Given the description of an element on the screen output the (x, y) to click on. 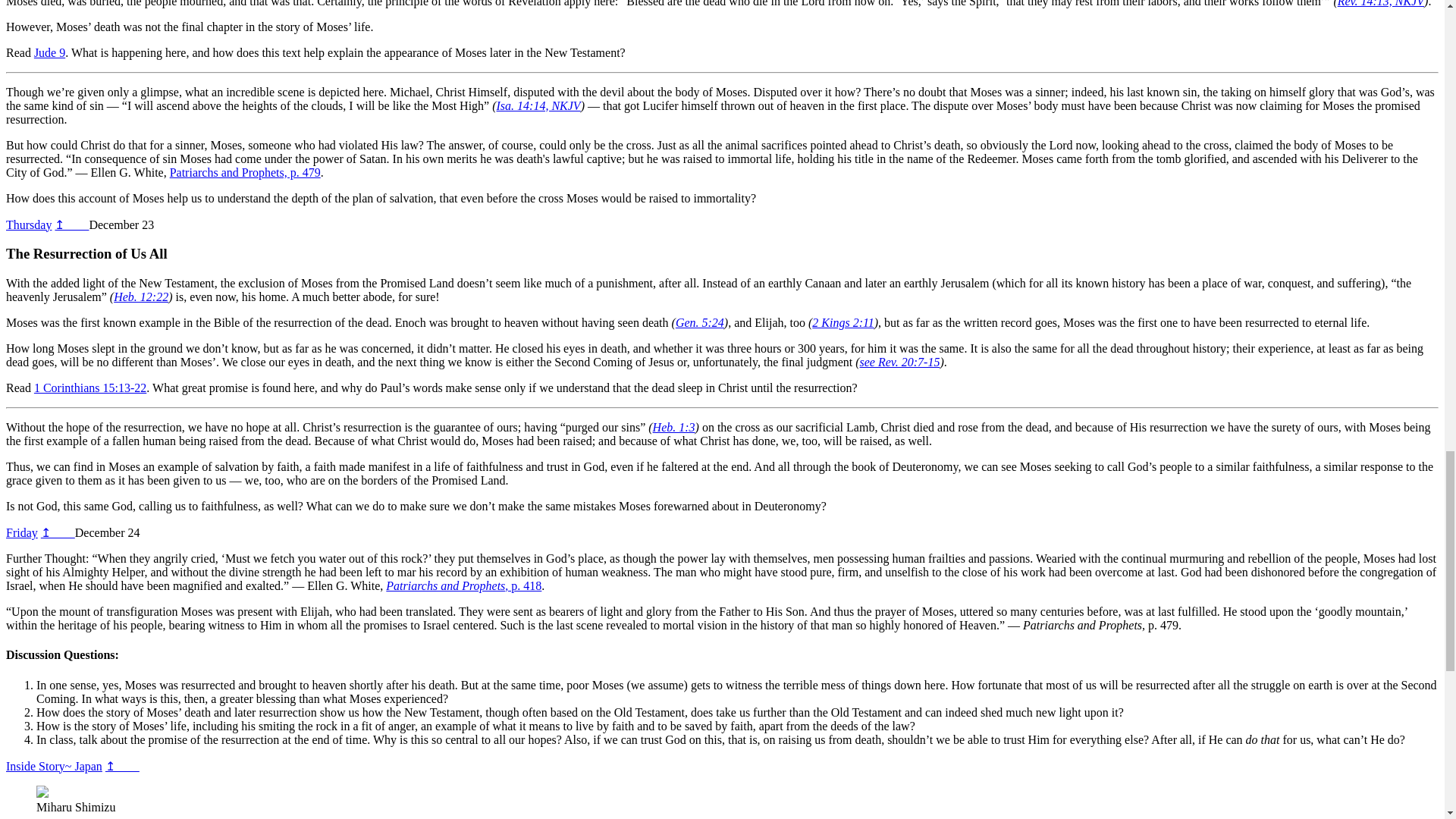
Go to top of the page (57, 532)
Go to top of the page (121, 766)
Align Upwards (53, 766)
Align Upwards (27, 224)
Align Upwards (21, 532)
Go to top of the page (71, 224)
